Given the description of an element on the screen output the (x, y) to click on. 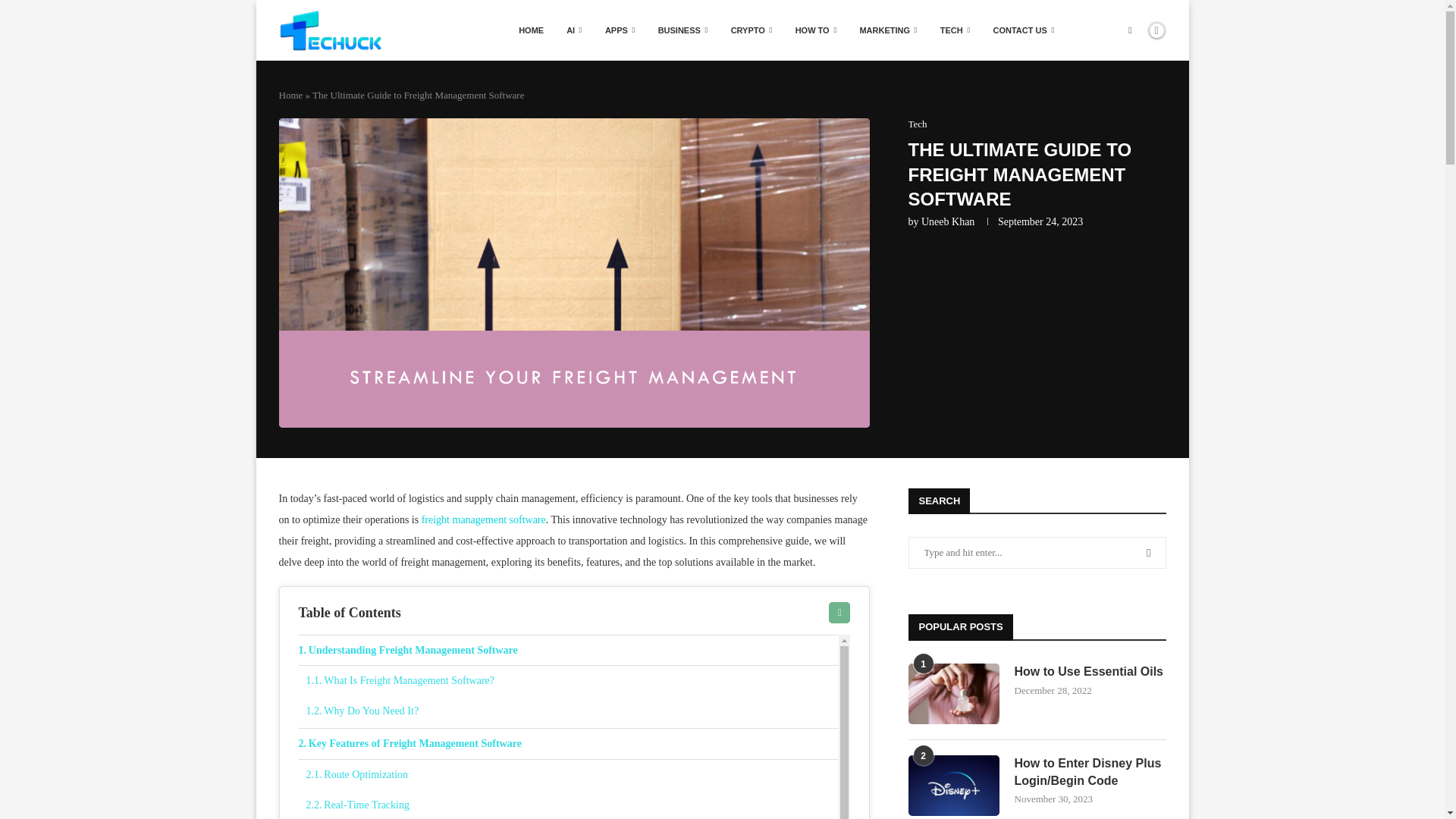
Key Features of Freight Management Software (569, 743)
Real-Time Tracking (572, 804)
Route Optimization (572, 775)
Why Do You Need It? (572, 711)
Understanding Freight Management Software (569, 650)
Why Do You Need It? (572, 711)
What Is Freight Management Software? (572, 680)
BUSINESS (682, 30)
CRYPTO (751, 30)
Key Features of Freight Management Software (569, 743)
